Given the description of an element on the screen output the (x, y) to click on. 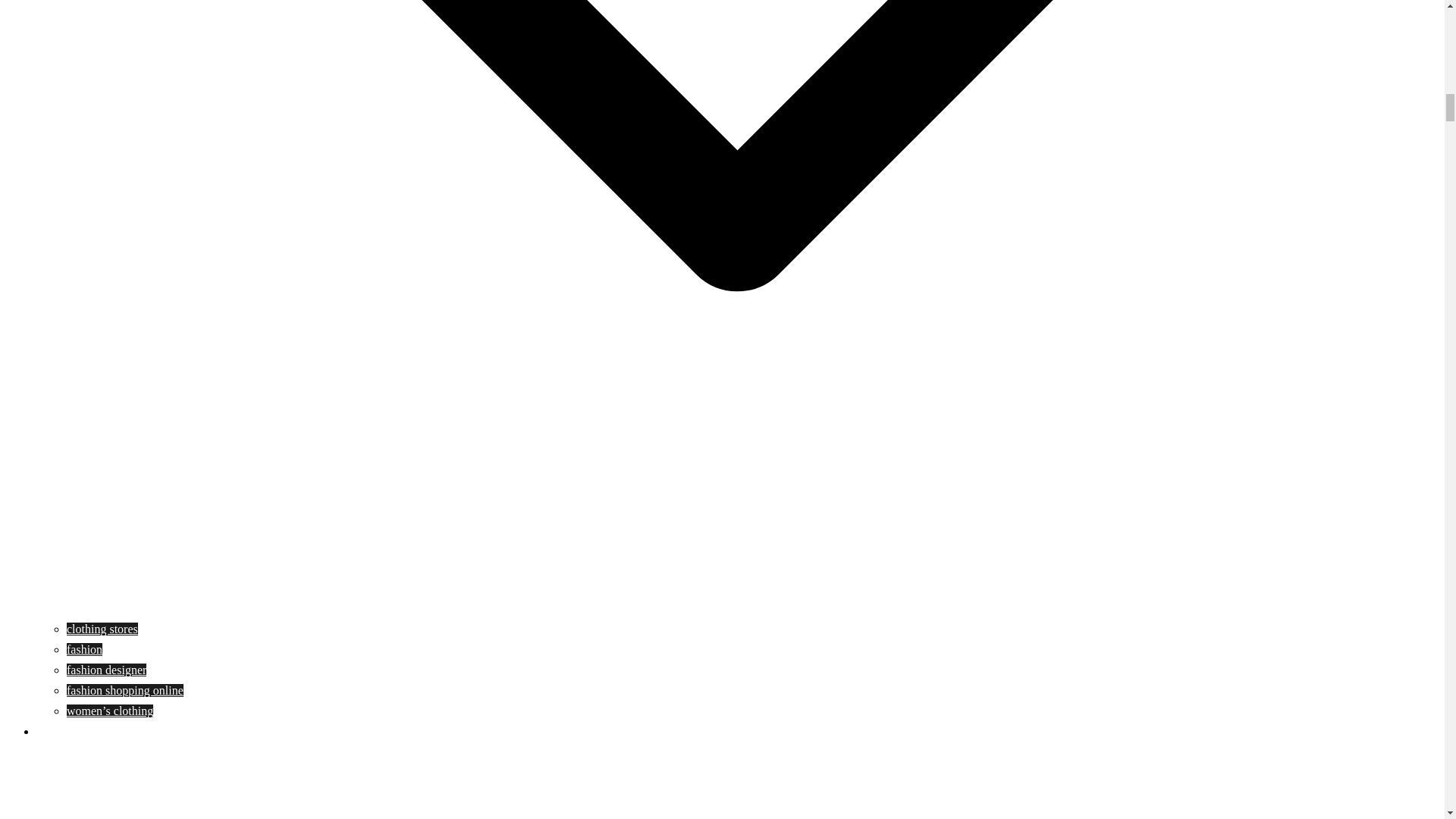
Hat (44, 730)
fashion designer (106, 669)
fashion (83, 649)
fashion shopping online (124, 689)
clothing stores (102, 628)
